Given the description of an element on the screen output the (x, y) to click on. 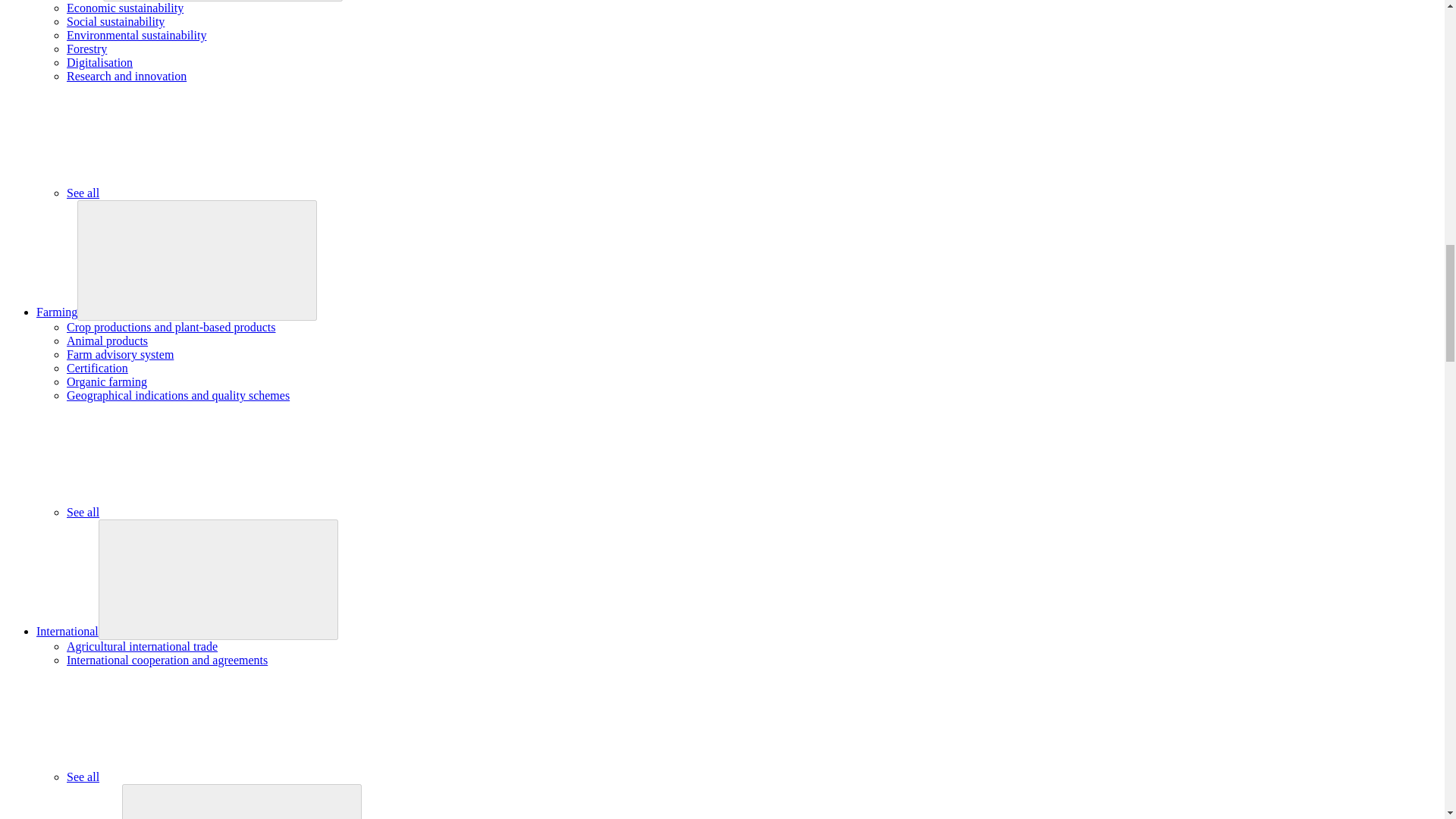
Social sustainability (115, 21)
Animal products (107, 340)
Farm advisory system (119, 354)
Digitalisation (99, 62)
Certification (97, 367)
Environmental sustainability (136, 34)
Forestry (86, 48)
Research and innovation (126, 75)
Farming (56, 311)
Economic sustainability (124, 7)
See all (196, 192)
Crop productions and plant-based products (171, 327)
